Given the description of an element on the screen output the (x, y) to click on. 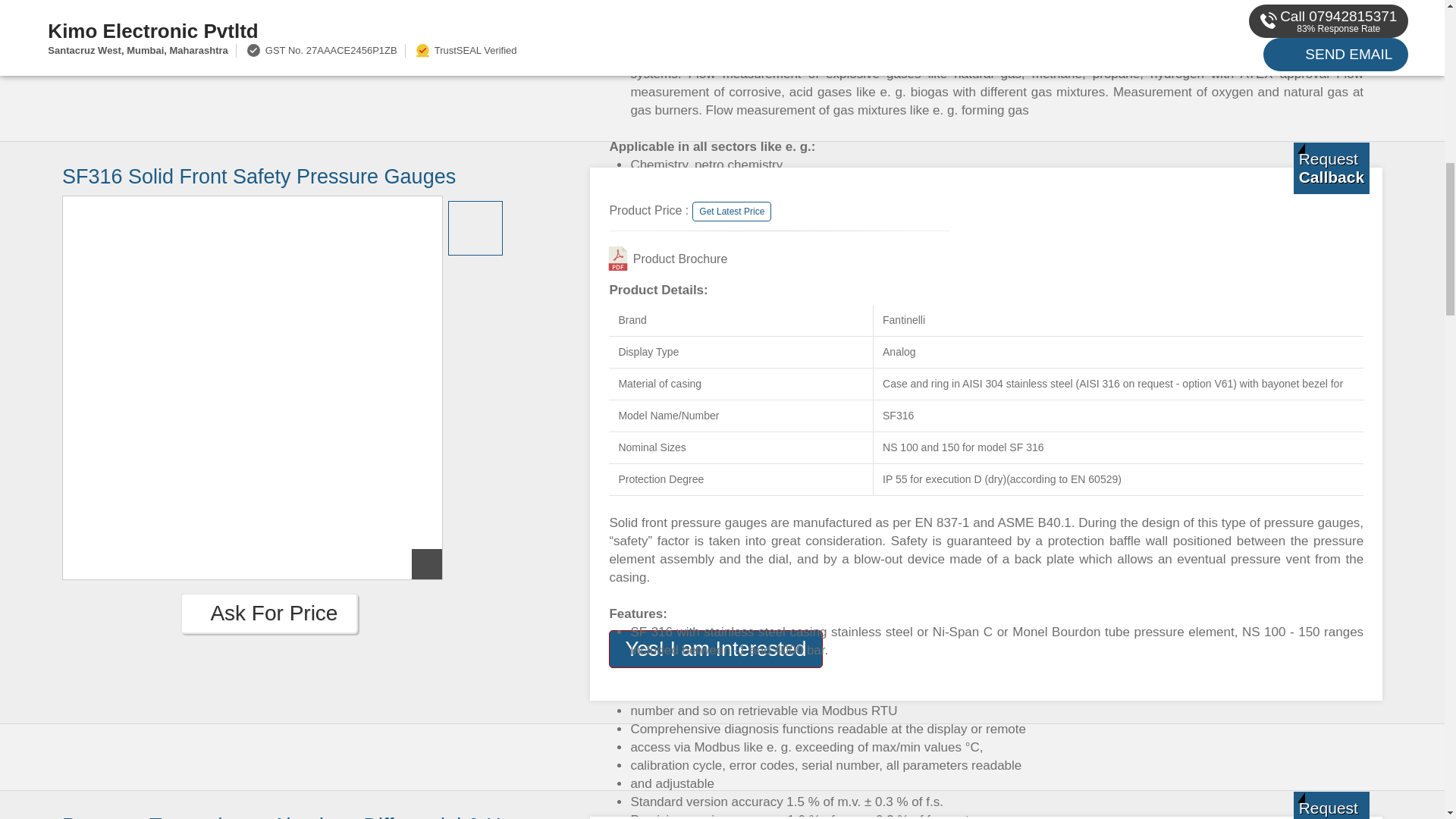
Get a Call from us (1332, 805)
Get a Call from us (1332, 168)
